Given the description of an element on the screen output the (x, y) to click on. 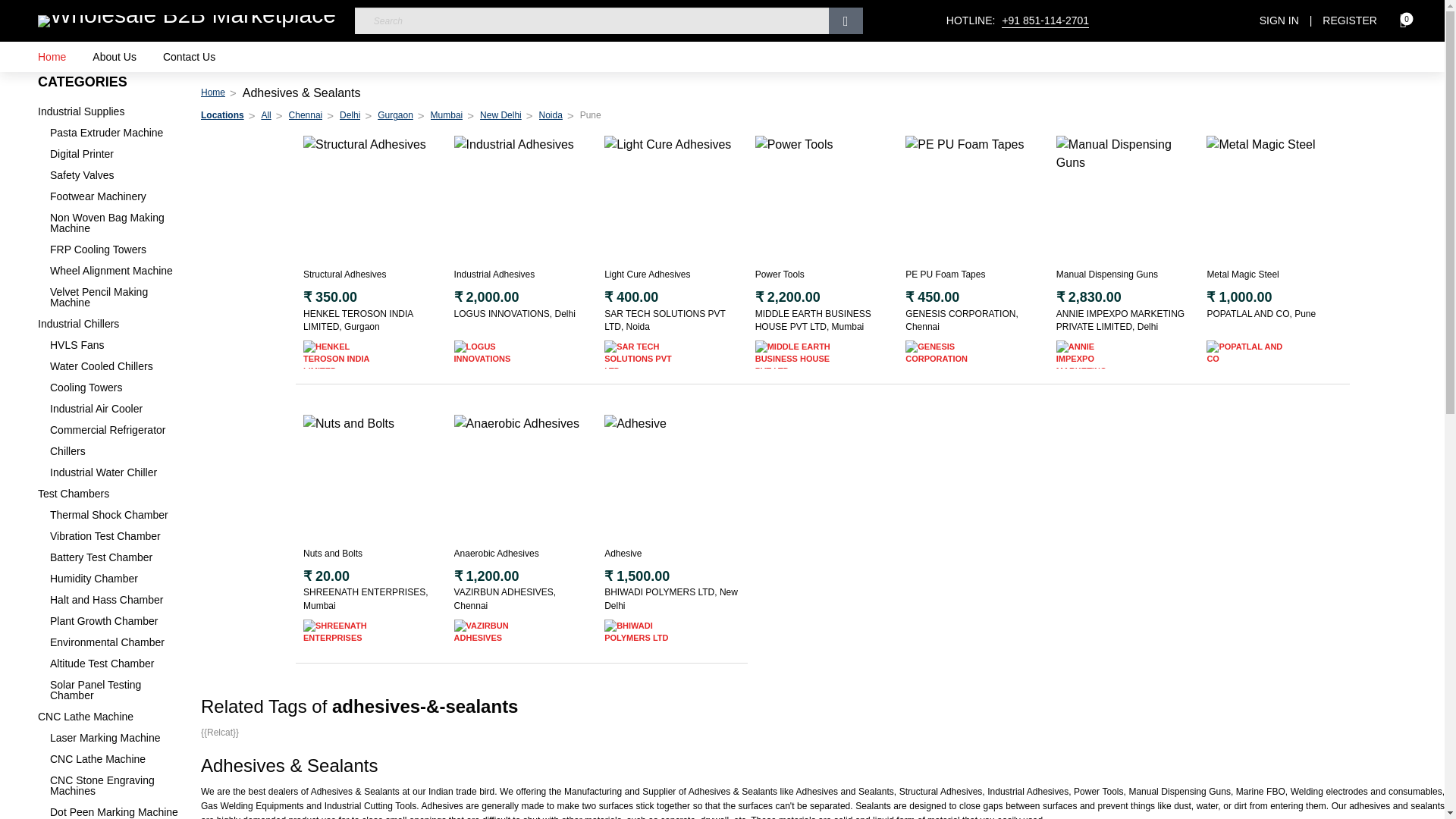
Gurgaon (395, 115)
Home (51, 56)
Battery Test Chamber (113, 557)
CNC Lathe Machine (107, 716)
Locations (222, 115)
Contact Us (189, 56)
FRP Cooling Towers (113, 249)
Altitude Test Chamber (113, 663)
Wheel Alignment Machine (113, 270)
Vibration Test Chamber (113, 535)
